Given the description of an element on the screen output the (x, y) to click on. 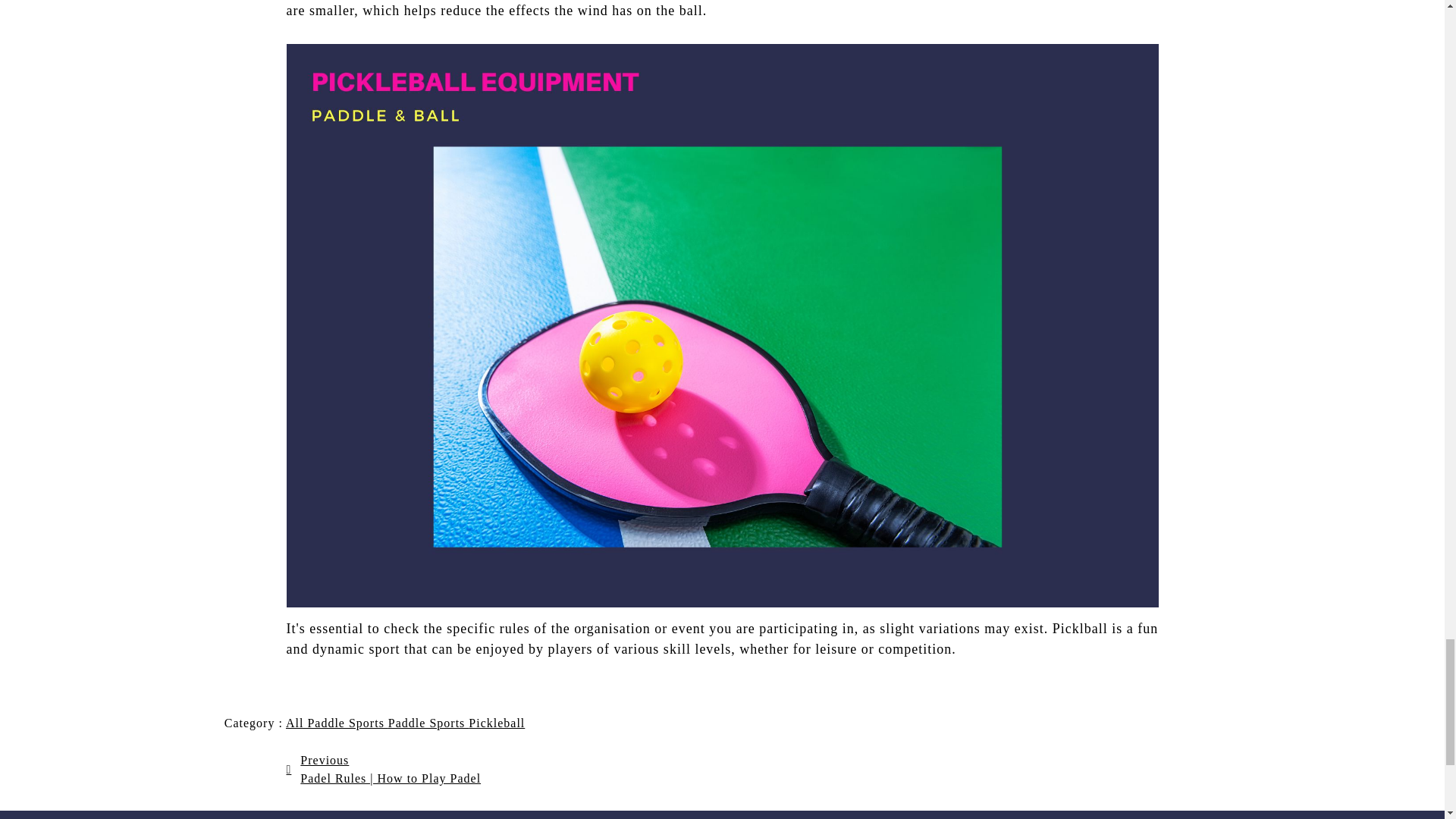
Paddle Sports (428, 722)
Pickleball (496, 722)
All Paddle Sports (336, 722)
